Given the description of an element on the screen output the (x, y) to click on. 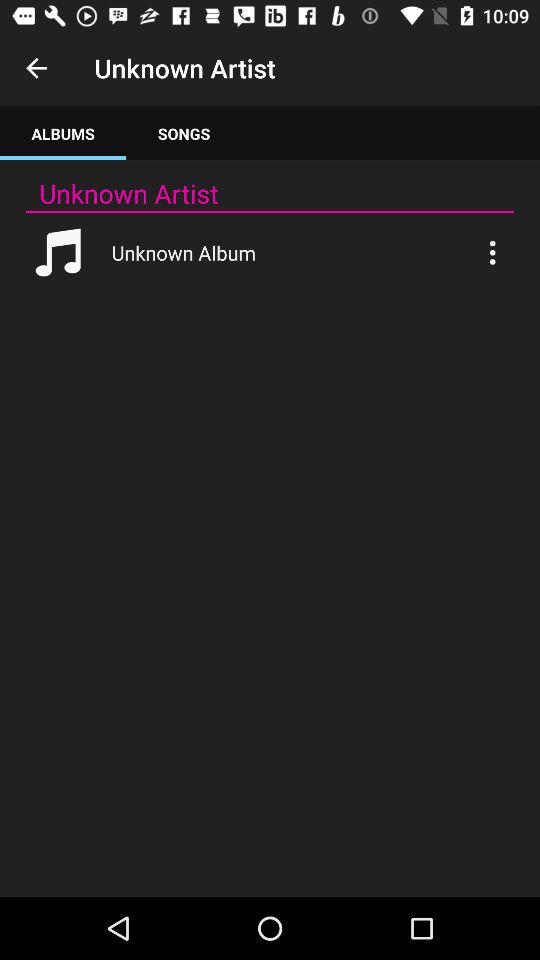
open app to the right of albums (183, 133)
